Given the description of an element on the screen output the (x, y) to click on. 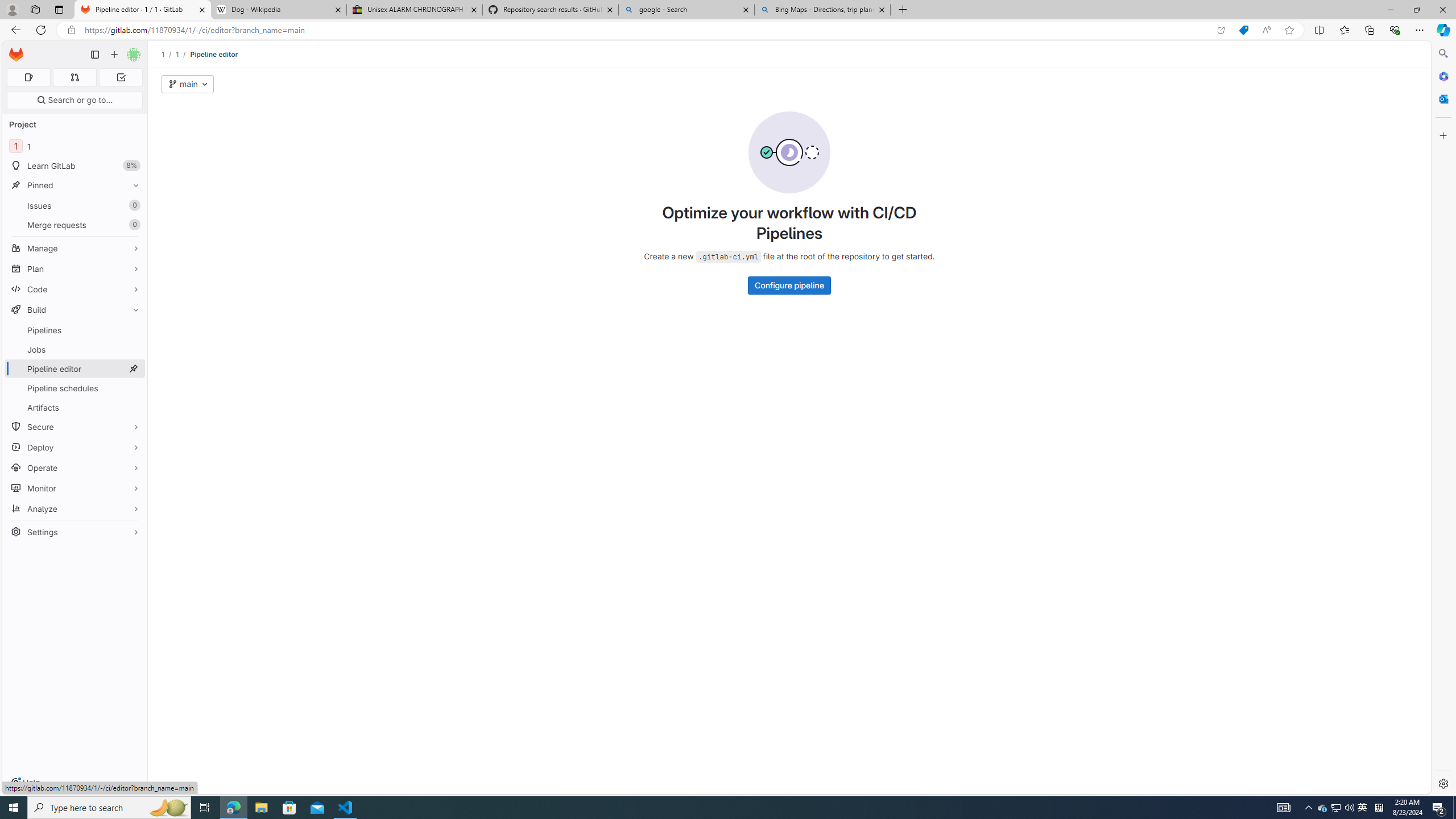
Plan (74, 268)
BuildPipelinesJobsPipeline editorPipeline schedulesArtifacts (74, 358)
Pin Pipeline schedules (132, 387)
